Given the description of an element on the screen output the (x, y) to click on. 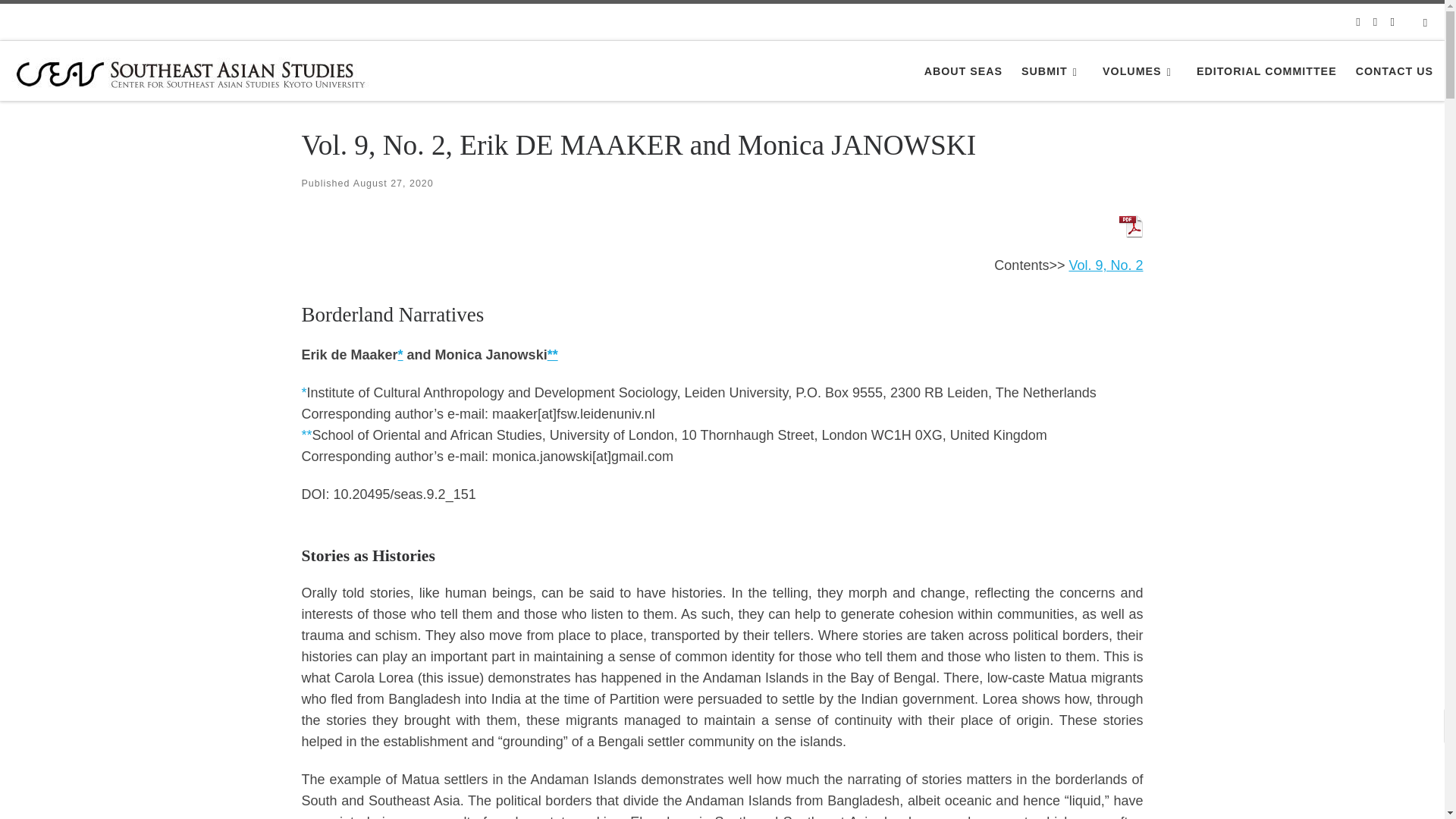
EDITORIAL COMMITTEE (1266, 70)
SUBMIT (1052, 70)
ABOUT SEAS (962, 70)
Skip to content (60, 20)
CONTACT US (1394, 70)
VOLUMES (1139, 70)
